Given the description of an element on the screen output the (x, y) to click on. 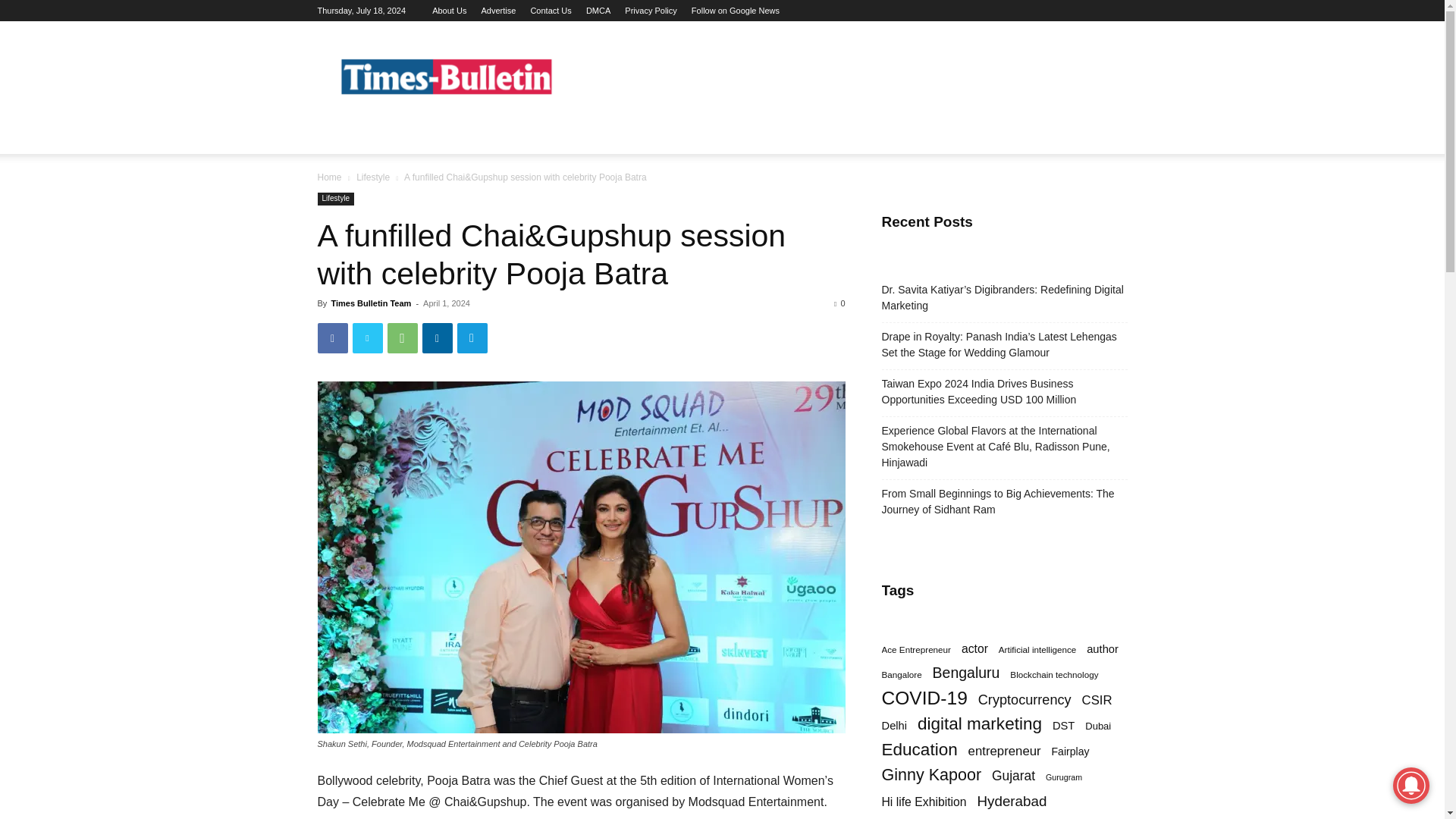
Advertise (497, 10)
Facebook (332, 337)
Twitter (366, 337)
Follow on Google News (734, 10)
Privacy Policy (650, 10)
About Us (448, 10)
WhatsApp (401, 337)
View all posts in Lifestyle (373, 176)
Telegram (471, 337)
Linkedin (436, 337)
Contact Us (549, 10)
DMCA (598, 10)
